Given the description of an element on the screen output the (x, y) to click on. 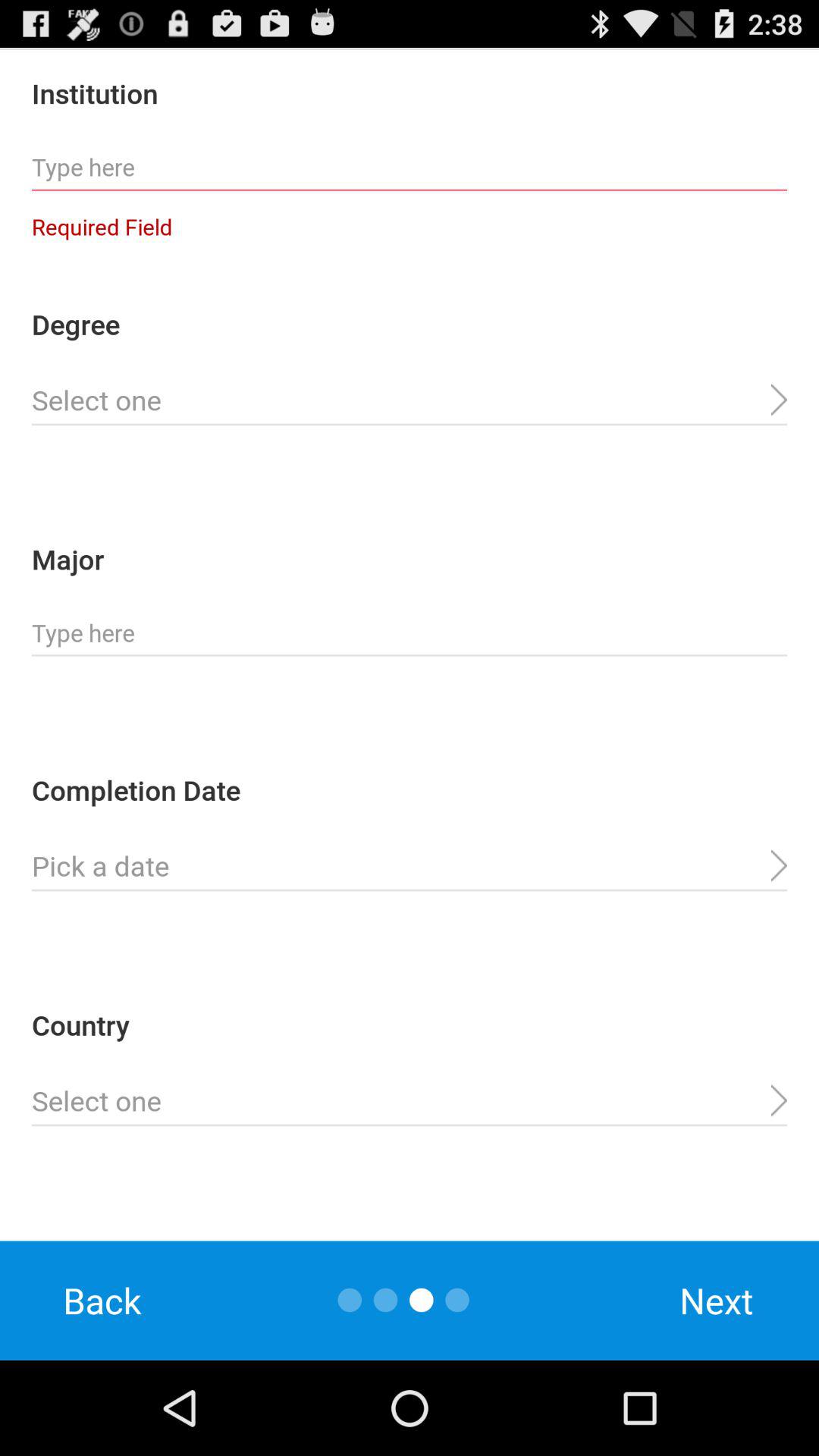
box of text for institution (409, 167)
